Given the description of an element on the screen output the (x, y) to click on. 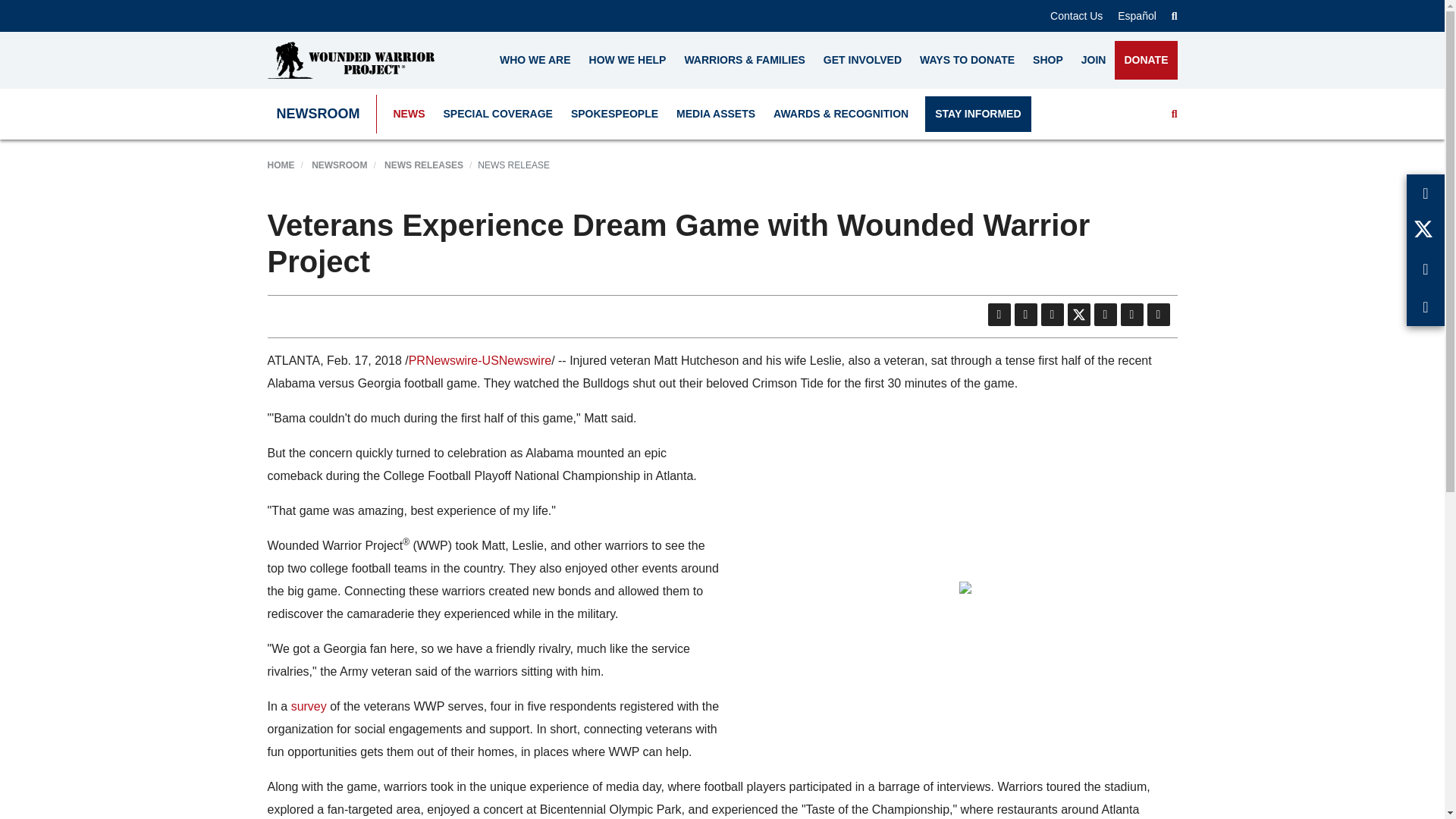
Facebook Share (1131, 314)
Contact Us (1075, 15)
GET INVOLVED (862, 59)
print (1158, 314)
email (1051, 314)
Linkedin Share (1104, 314)
rss (1025, 314)
HOW WE HELP (627, 59)
WHO WE ARE (534, 59)
